Given the description of an element on the screen output the (x, y) to click on. 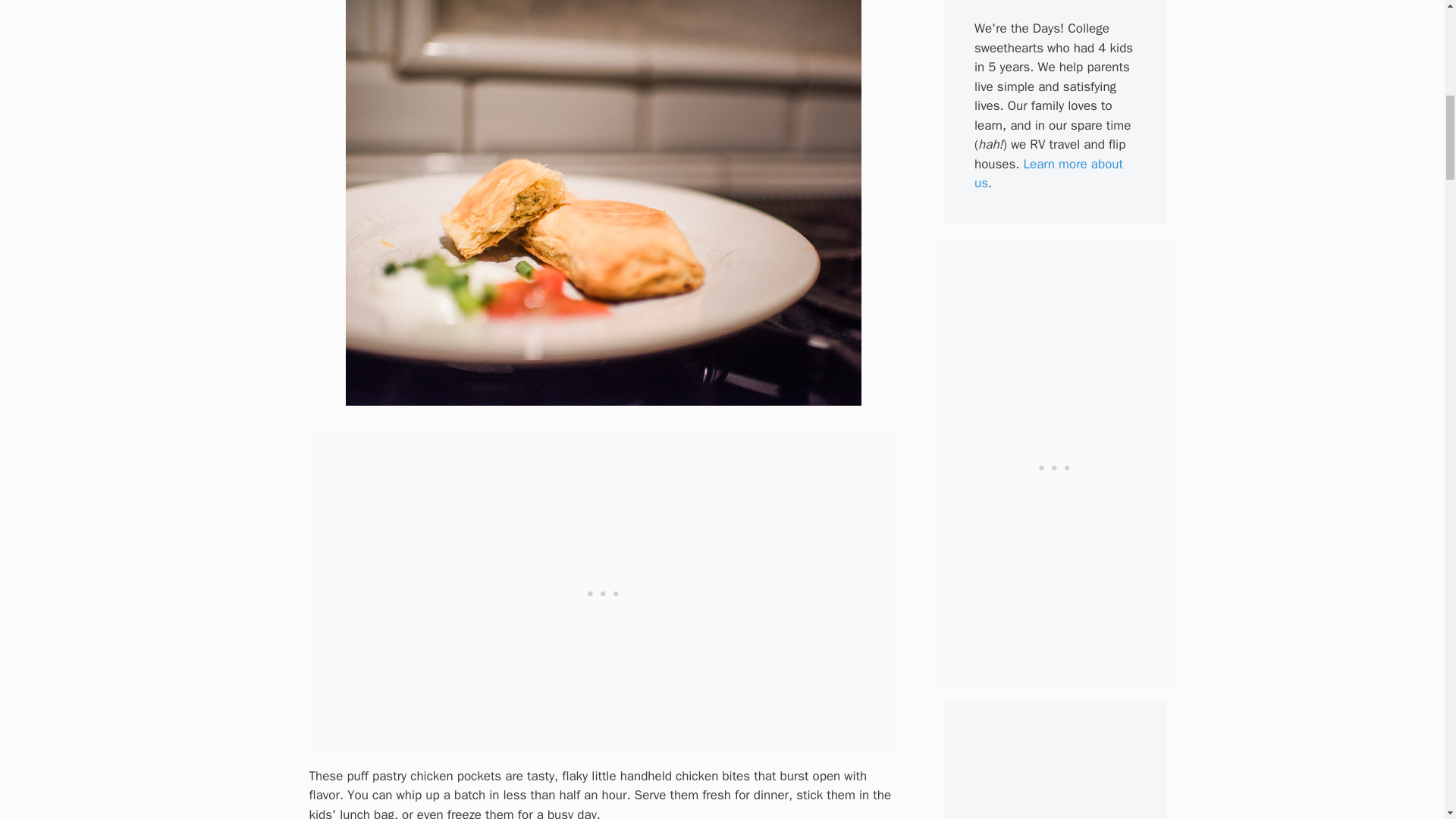
Learn more about us (1048, 173)
